Given the description of an element on the screen output the (x, y) to click on. 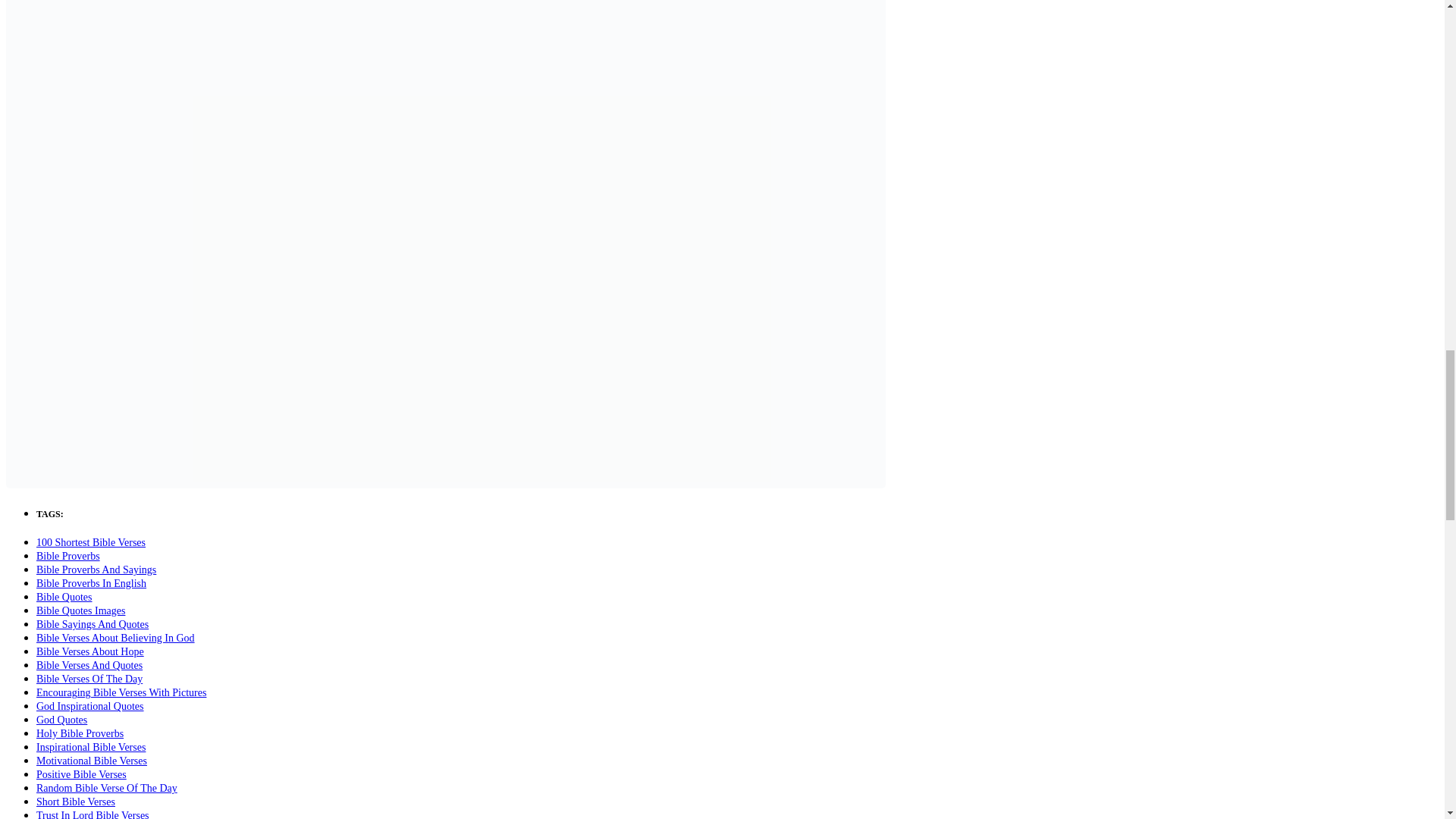
Bible Verses Of The Day (89, 678)
100 Shortest Bible Verses (90, 542)
Bible Sayings And Quotes (92, 624)
Bible Proverbs (68, 555)
Bible Quotes Images (80, 610)
God Inspirational Quotes (90, 706)
Bible Proverbs In English (91, 583)
Holy Bible Proverbs (79, 733)
Encouraging Bible Verses With Pictures (121, 692)
Bible Verses About Hope (90, 651)
Bible Verses And Quotes (89, 665)
Bible Proverbs And Sayings (95, 569)
Bible Quotes (64, 596)
Bible Verses About Believing In God (115, 637)
